Given the description of an element on the screen output the (x, y) to click on. 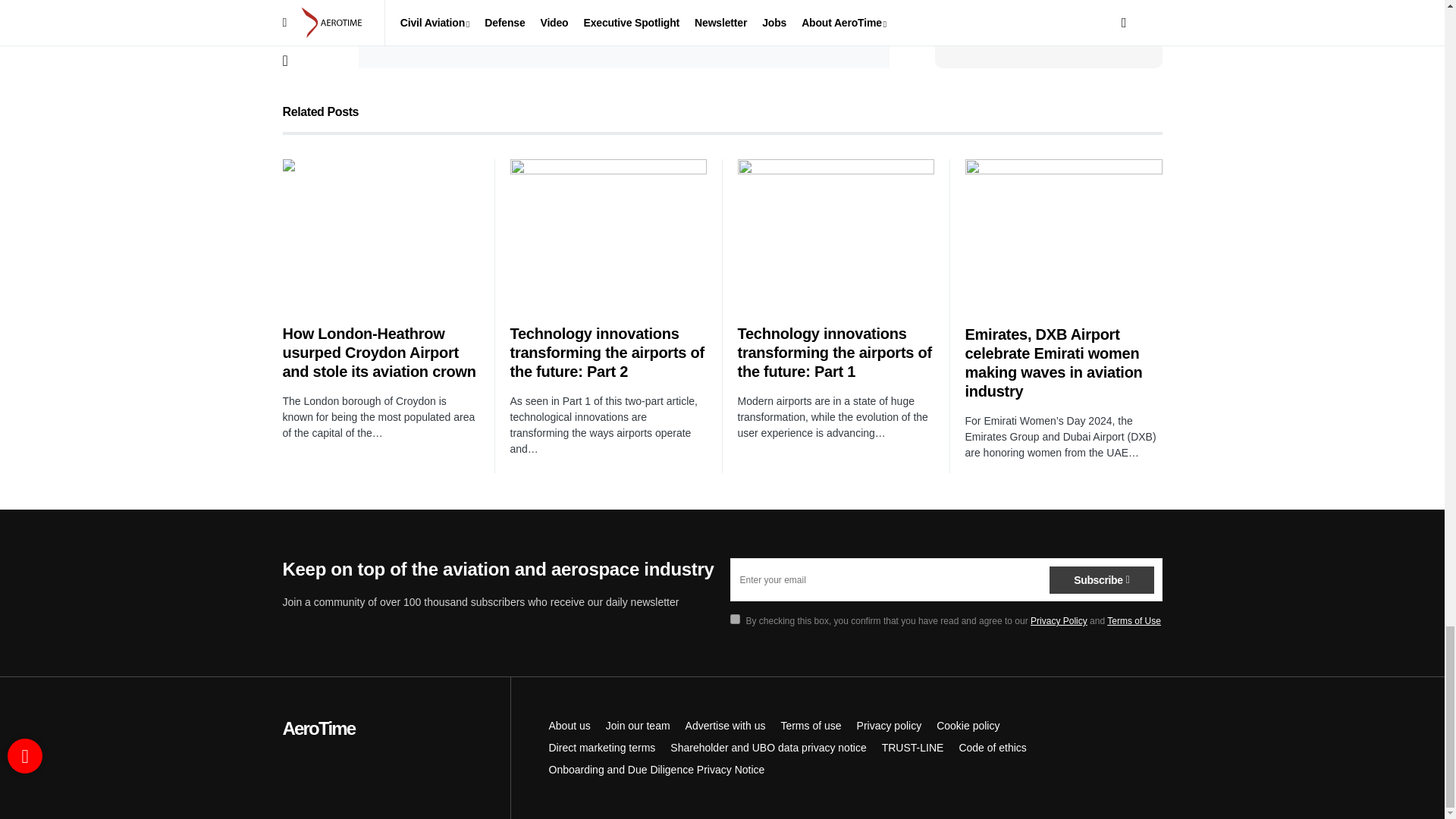
on (734, 619)
on (392, 29)
